Given the description of an element on the screen output the (x, y) to click on. 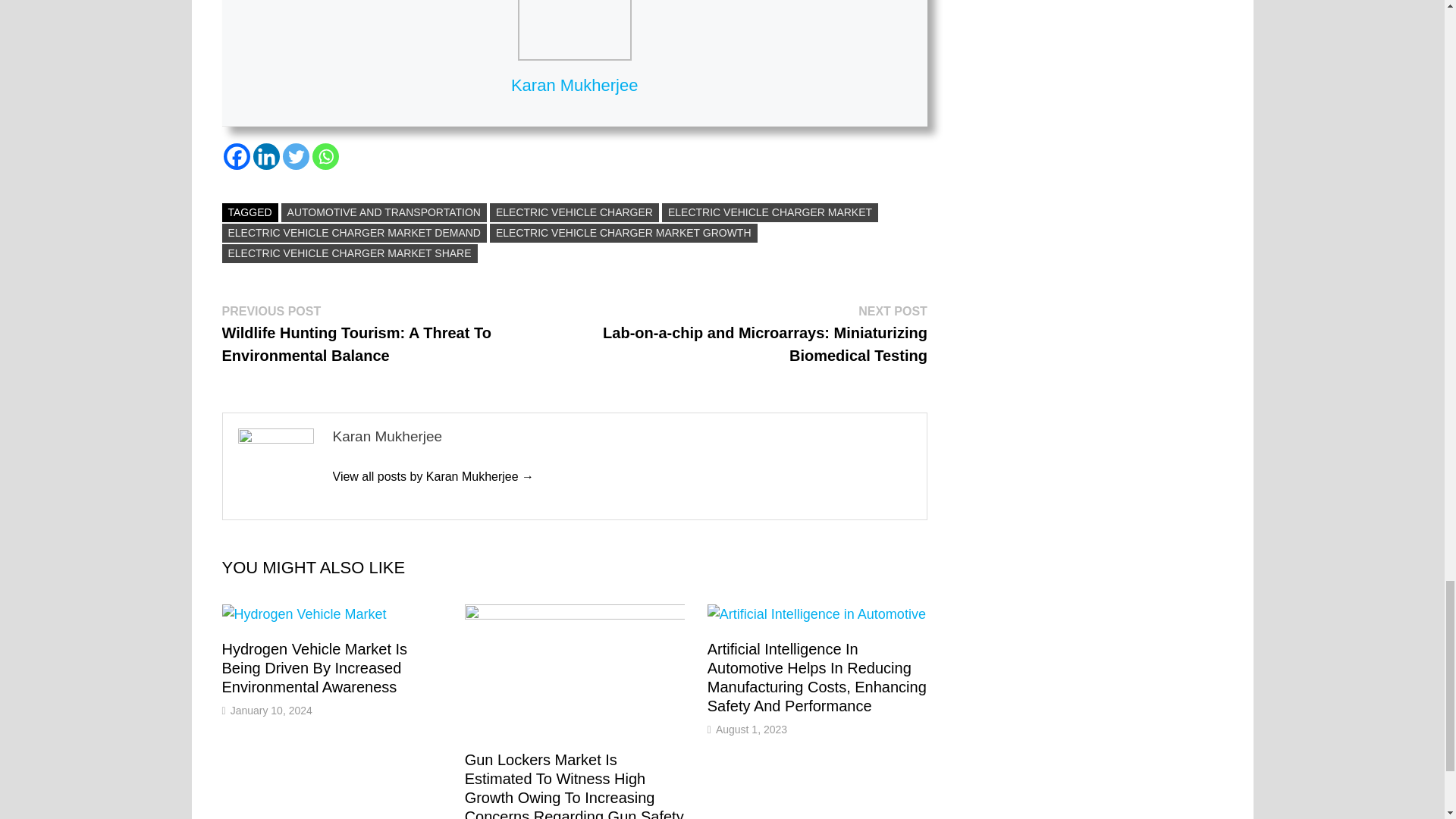
Linkedin (266, 156)
Facebook (235, 156)
Twitter (295, 156)
Whatsapp (326, 156)
Karan Mukherjee (432, 476)
